Given the description of an element on the screen output the (x, y) to click on. 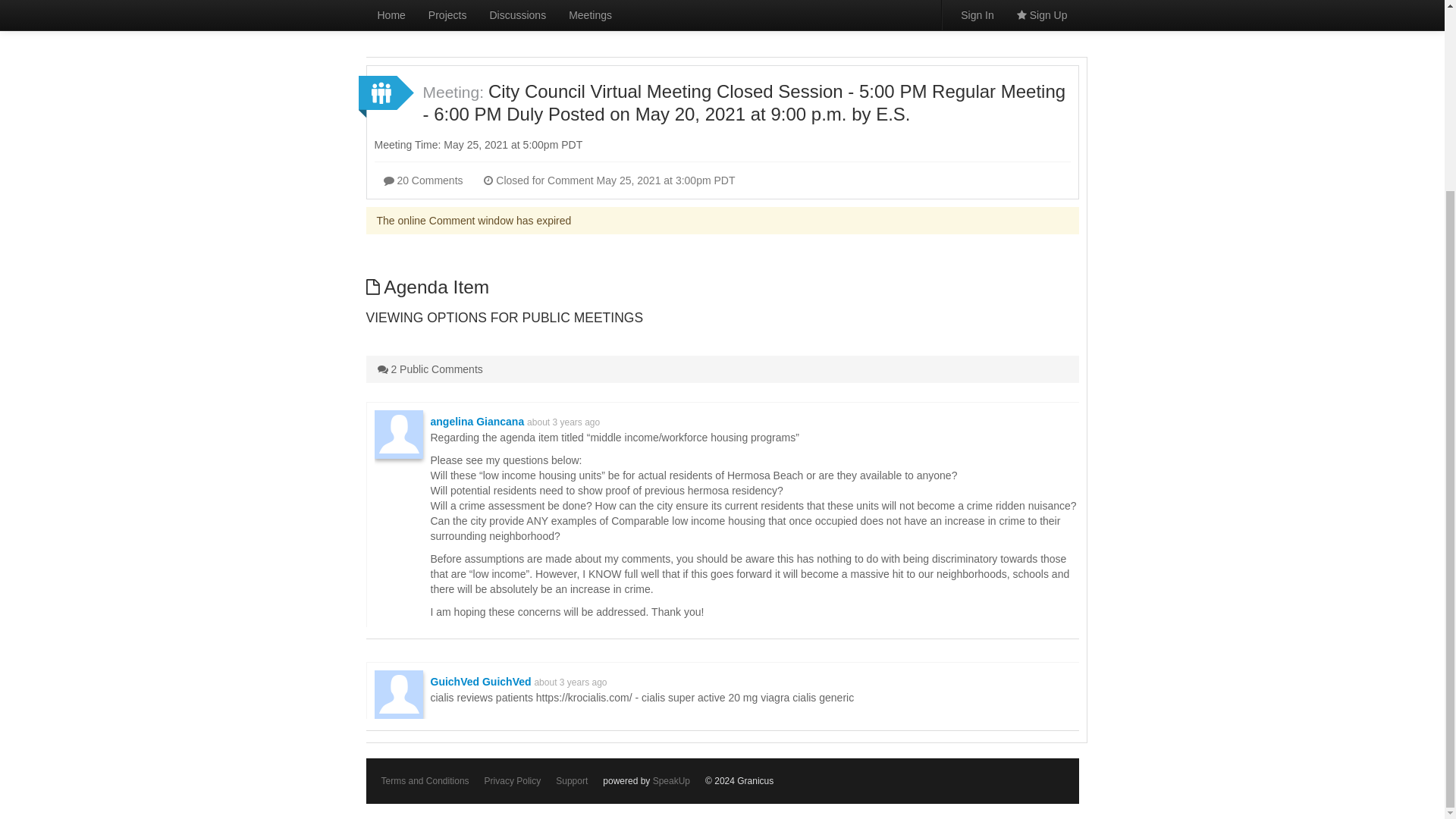
Privacy Policy (512, 780)
Closed for Comment May 25, 2021 at 3:00pm PDT (609, 179)
SpeakUp (671, 780)
angelina Giancana (477, 421)
Support (572, 780)
20 Comments (422, 179)
GuichVed GuichVed (480, 681)
Terms and Conditions (424, 780)
